Given the description of an element on the screen output the (x, y) to click on. 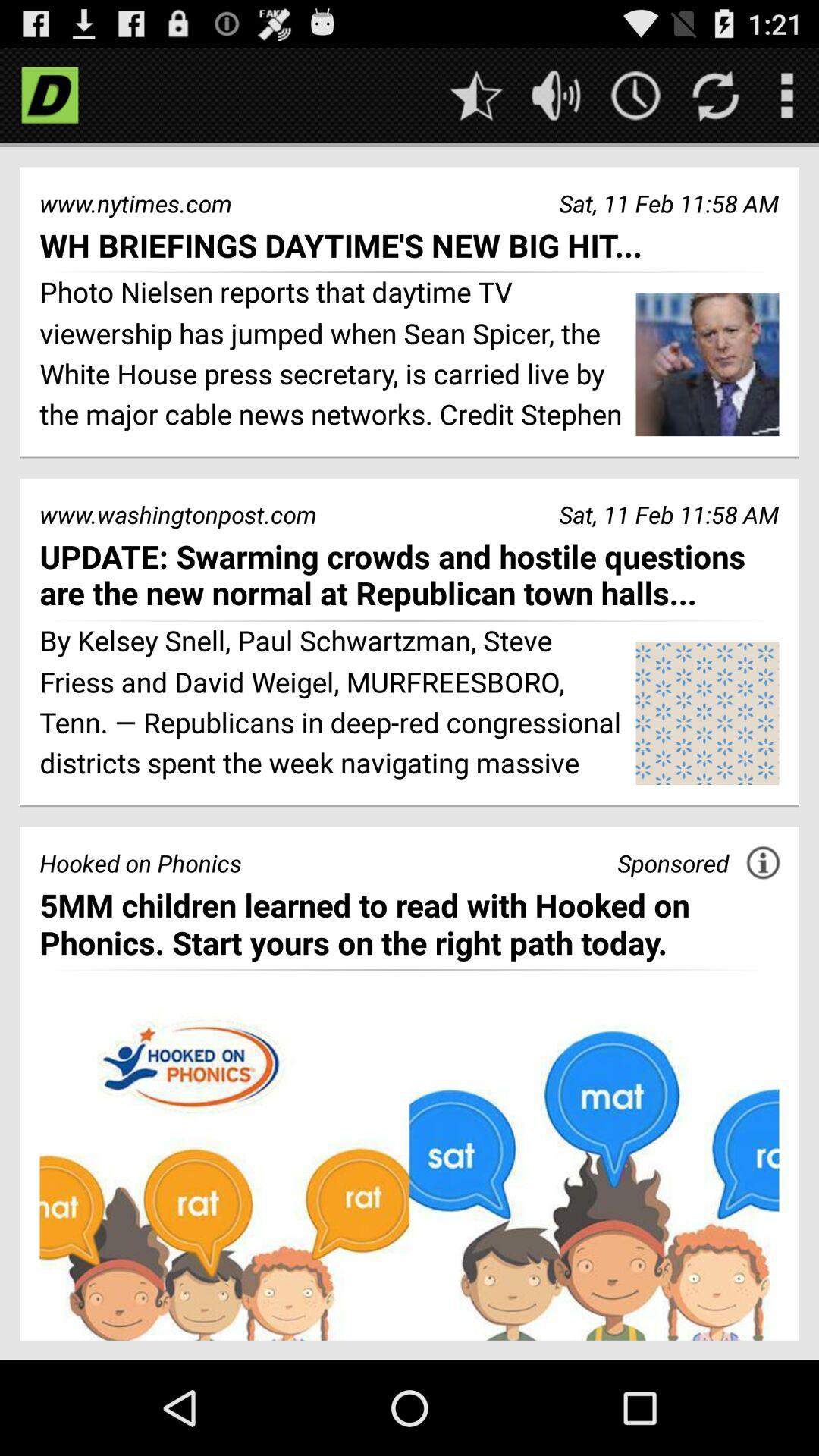
bookmark this page (476, 95)
